Given the description of an element on the screen output the (x, y) to click on. 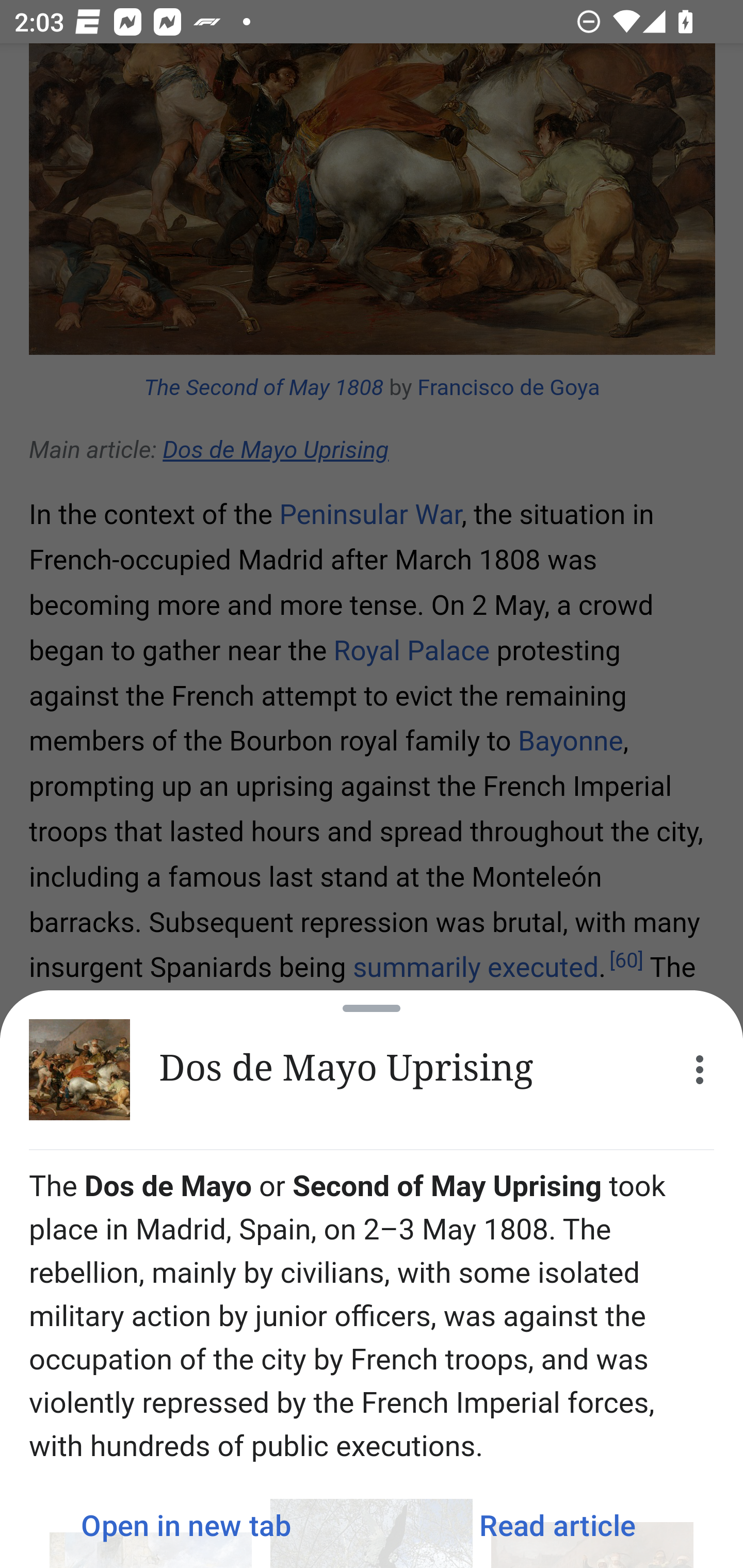
Dos de Mayo Uprising More options (371, 1069)
More options (699, 1070)
Open in new tab (185, 1524)
Read article (557, 1524)
